Given the description of an element on the screen output the (x, y) to click on. 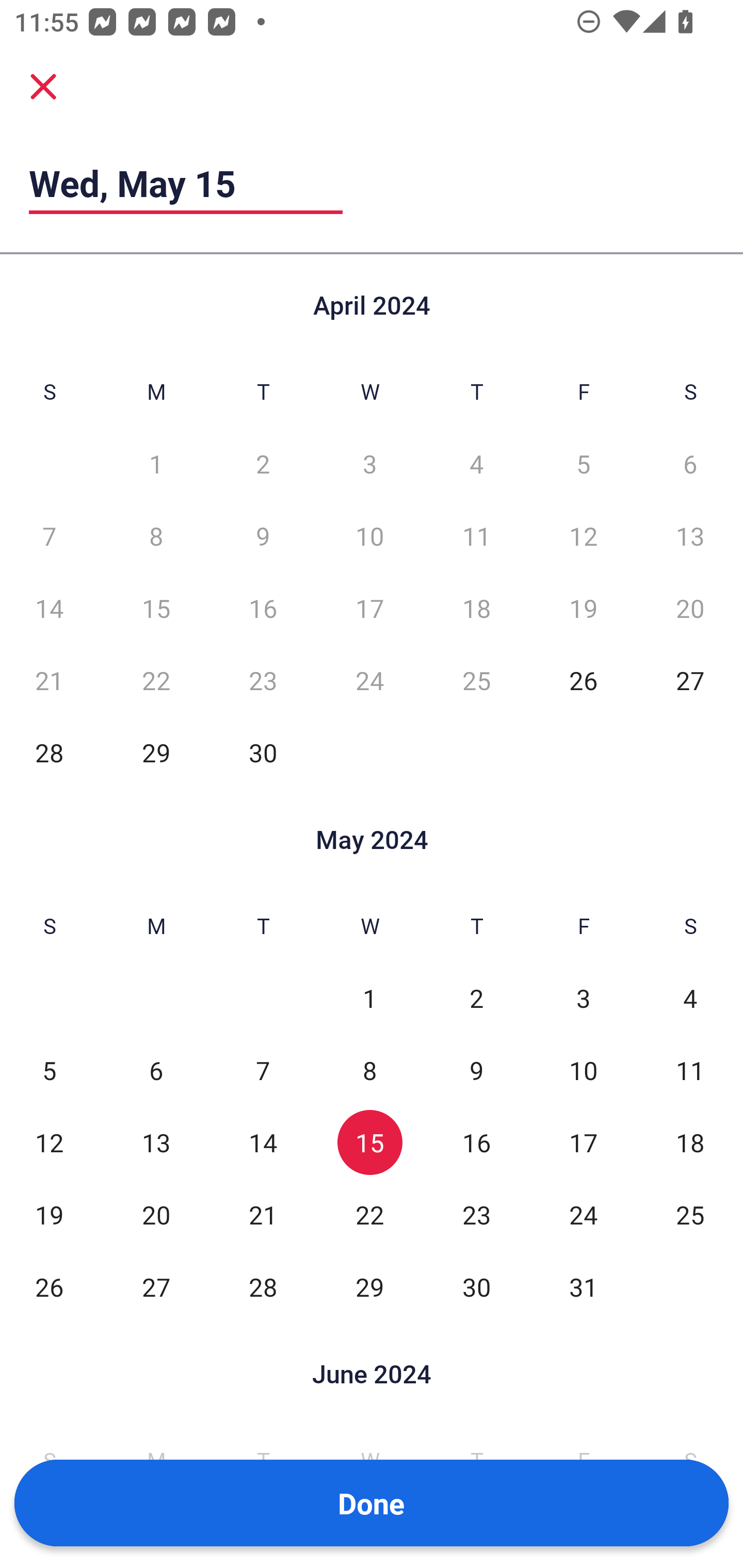
Cancel (43, 86)
Wed, May 15 (185, 182)
1 Mon, Apr 1, Not Selected (156, 464)
2 Tue, Apr 2, Not Selected (263, 464)
3 Wed, Apr 3, Not Selected (369, 464)
4 Thu, Apr 4, Not Selected (476, 464)
5 Fri, Apr 5, Not Selected (583, 464)
6 Sat, Apr 6, Not Selected (690, 464)
7 Sun, Apr 7, Not Selected (49, 536)
8 Mon, Apr 8, Not Selected (156, 536)
9 Tue, Apr 9, Not Selected (263, 536)
10 Wed, Apr 10, Not Selected (369, 536)
11 Thu, Apr 11, Not Selected (476, 536)
12 Fri, Apr 12, Not Selected (583, 536)
13 Sat, Apr 13, Not Selected (690, 536)
14 Sun, Apr 14, Not Selected (49, 608)
15 Mon, Apr 15, Not Selected (156, 608)
16 Tue, Apr 16, Not Selected (263, 608)
17 Wed, Apr 17, Not Selected (369, 608)
18 Thu, Apr 18, Not Selected (476, 608)
19 Fri, Apr 19, Not Selected (583, 608)
20 Sat, Apr 20, Not Selected (690, 608)
21 Sun, Apr 21, Not Selected (49, 680)
22 Mon, Apr 22, Not Selected (156, 680)
23 Tue, Apr 23, Not Selected (263, 680)
24 Wed, Apr 24, Not Selected (369, 680)
25 Thu, Apr 25, Not Selected (476, 680)
26 Fri, Apr 26, Not Selected (583, 680)
27 Sat, Apr 27, Not Selected (690, 680)
28 Sun, Apr 28, Not Selected (49, 752)
29 Mon, Apr 29, Not Selected (156, 752)
30 Tue, Apr 30, Not Selected (263, 752)
1 Wed, May 1, Not Selected (369, 997)
2 Thu, May 2, Not Selected (476, 997)
3 Fri, May 3, Not Selected (583, 997)
4 Sat, May 4, Not Selected (690, 997)
5 Sun, May 5, Not Selected (49, 1070)
6 Mon, May 6, Not Selected (156, 1070)
7 Tue, May 7, Not Selected (263, 1070)
8 Wed, May 8, Not Selected (369, 1070)
9 Thu, May 9, Not Selected (476, 1070)
10 Fri, May 10, Not Selected (583, 1070)
11 Sat, May 11, Not Selected (690, 1070)
12 Sun, May 12, Not Selected (49, 1143)
13 Mon, May 13, Not Selected (156, 1143)
14 Tue, May 14, Not Selected (263, 1143)
15 Wed, May 15, Selected (369, 1143)
16 Thu, May 16, Not Selected (476, 1143)
17 Fri, May 17, Not Selected (583, 1143)
18 Sat, May 18, Not Selected (690, 1143)
